Given the description of an element on the screen output the (x, y) to click on. 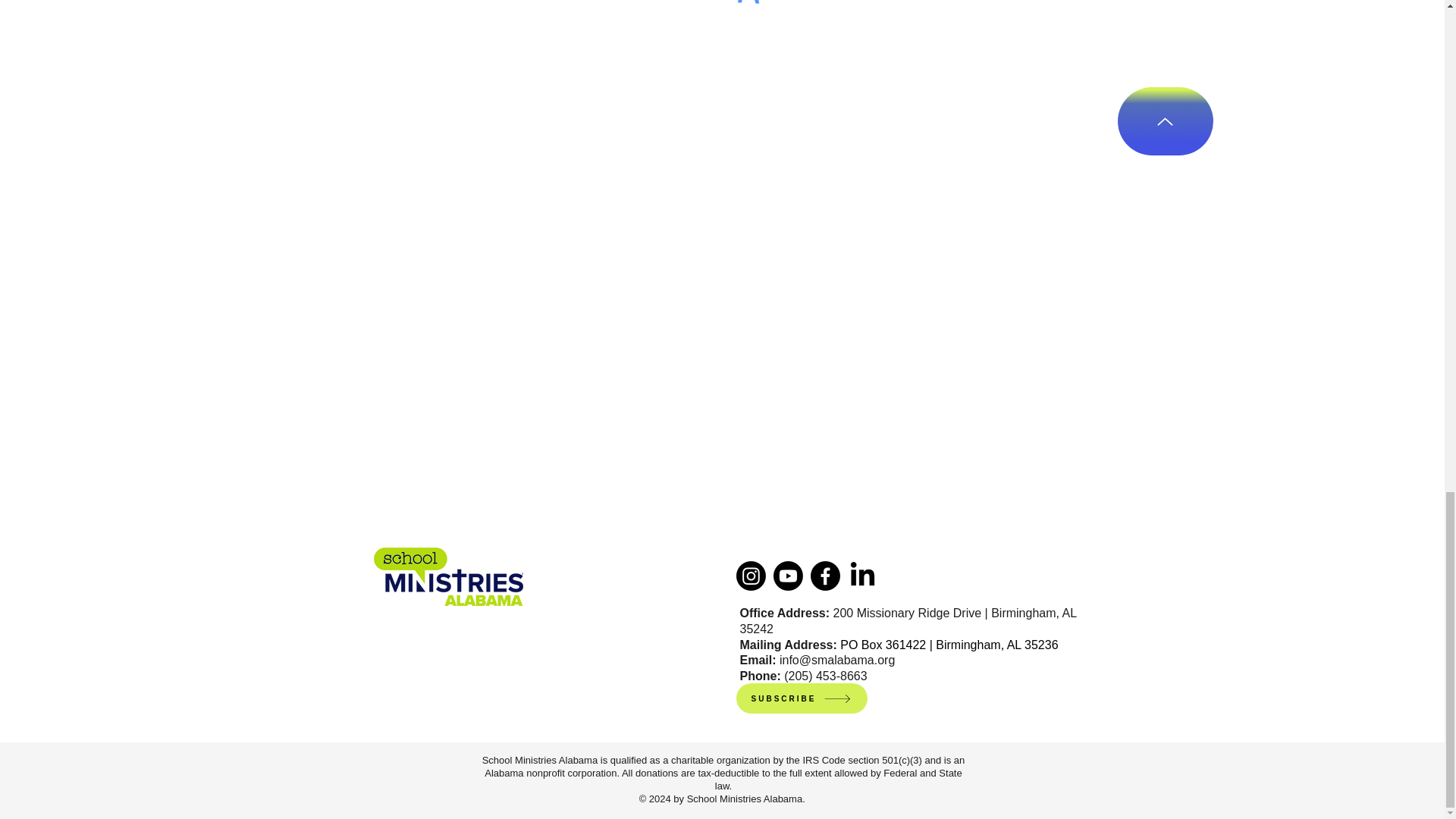
SUBSCRIBE (800, 698)
Logo, SMA.png (447, 576)
